Given the description of an element on the screen output the (x, y) to click on. 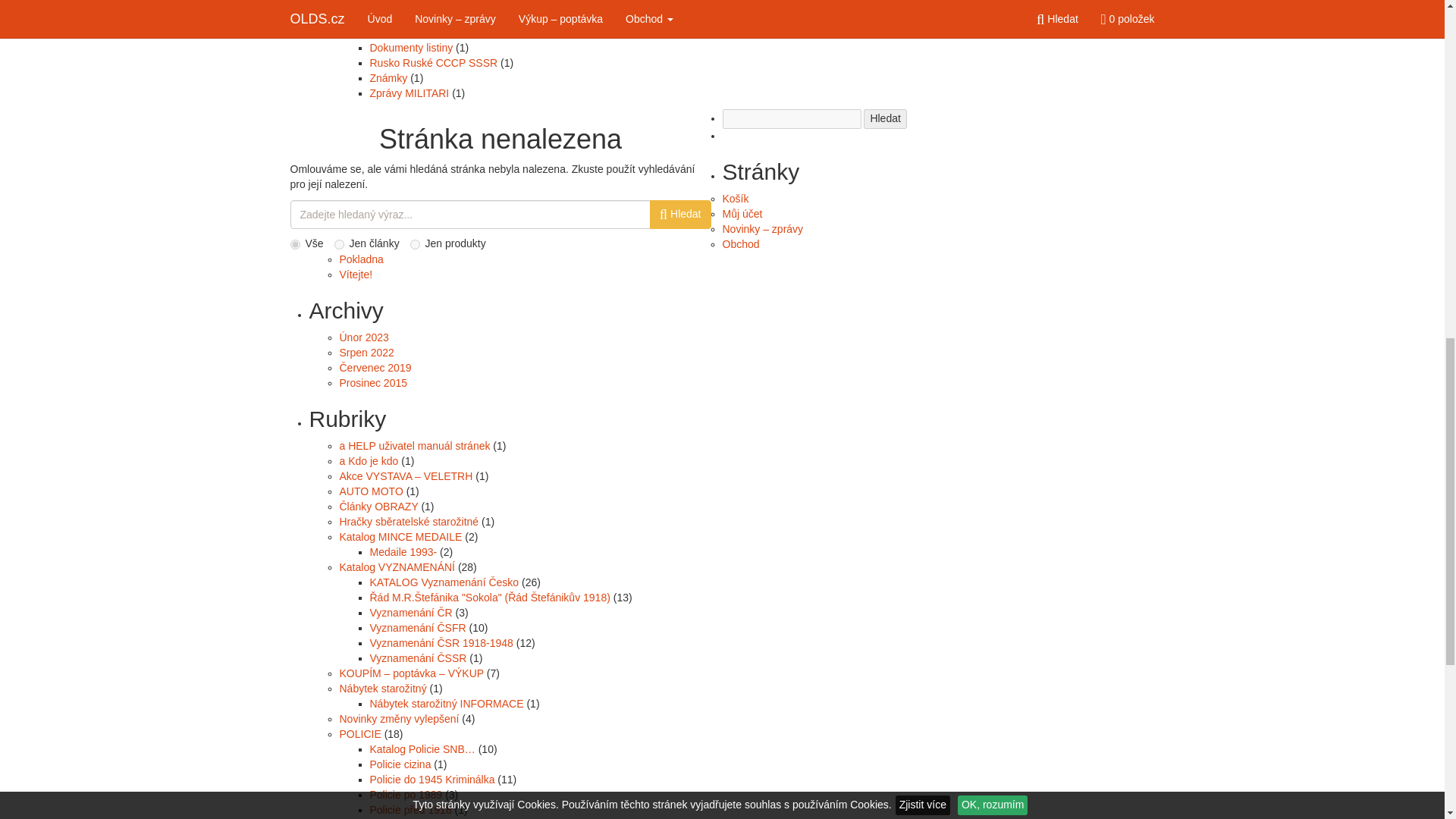
post (338, 244)
Hledat (884, 118)
product (415, 244)
any (294, 244)
